Given the description of an element on the screen output the (x, y) to click on. 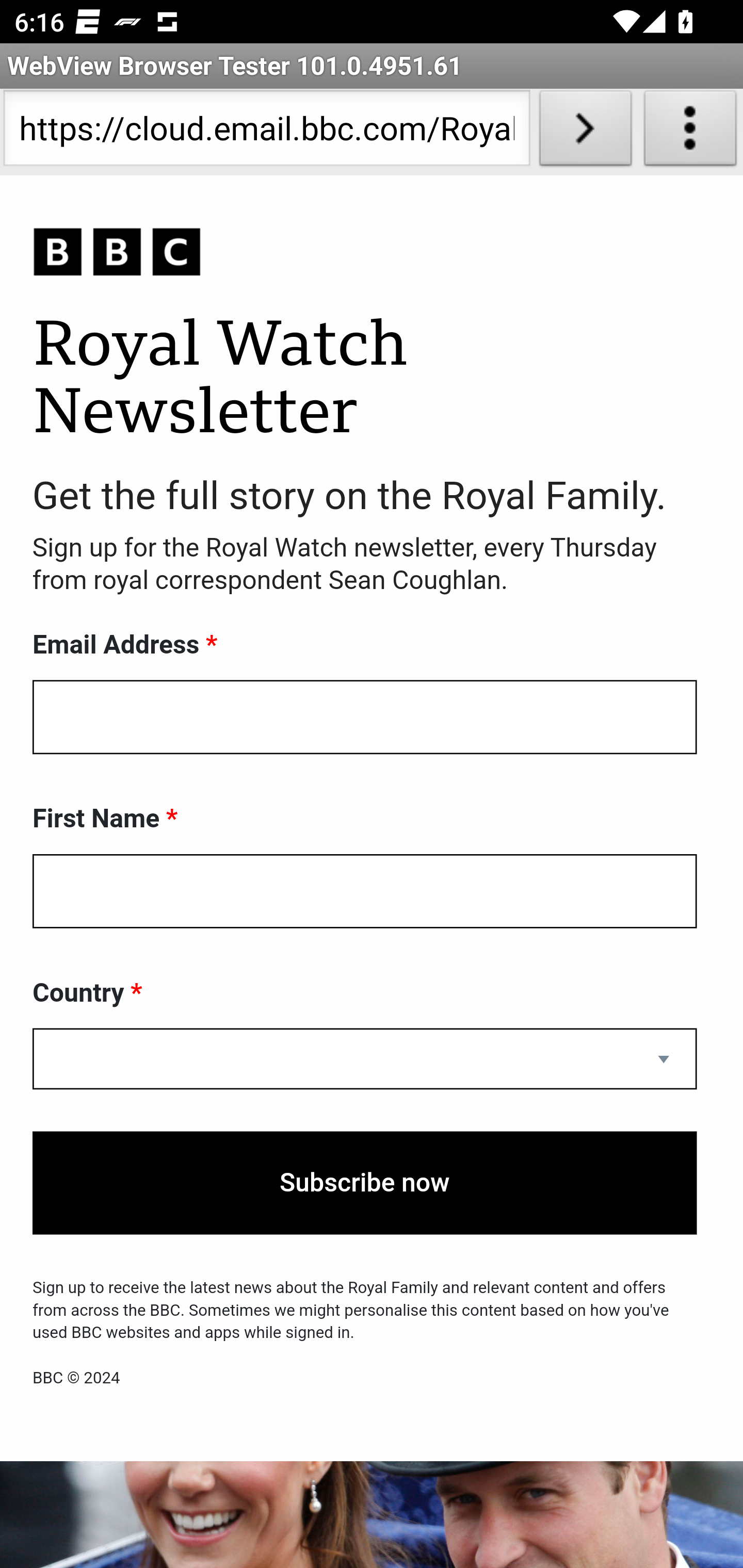
Load URL (585, 132)
About WebView (690, 132)
BBC (364, 253)
Subscribe now (364, 1182)
